Given the description of an element on the screen output the (x, y) to click on. 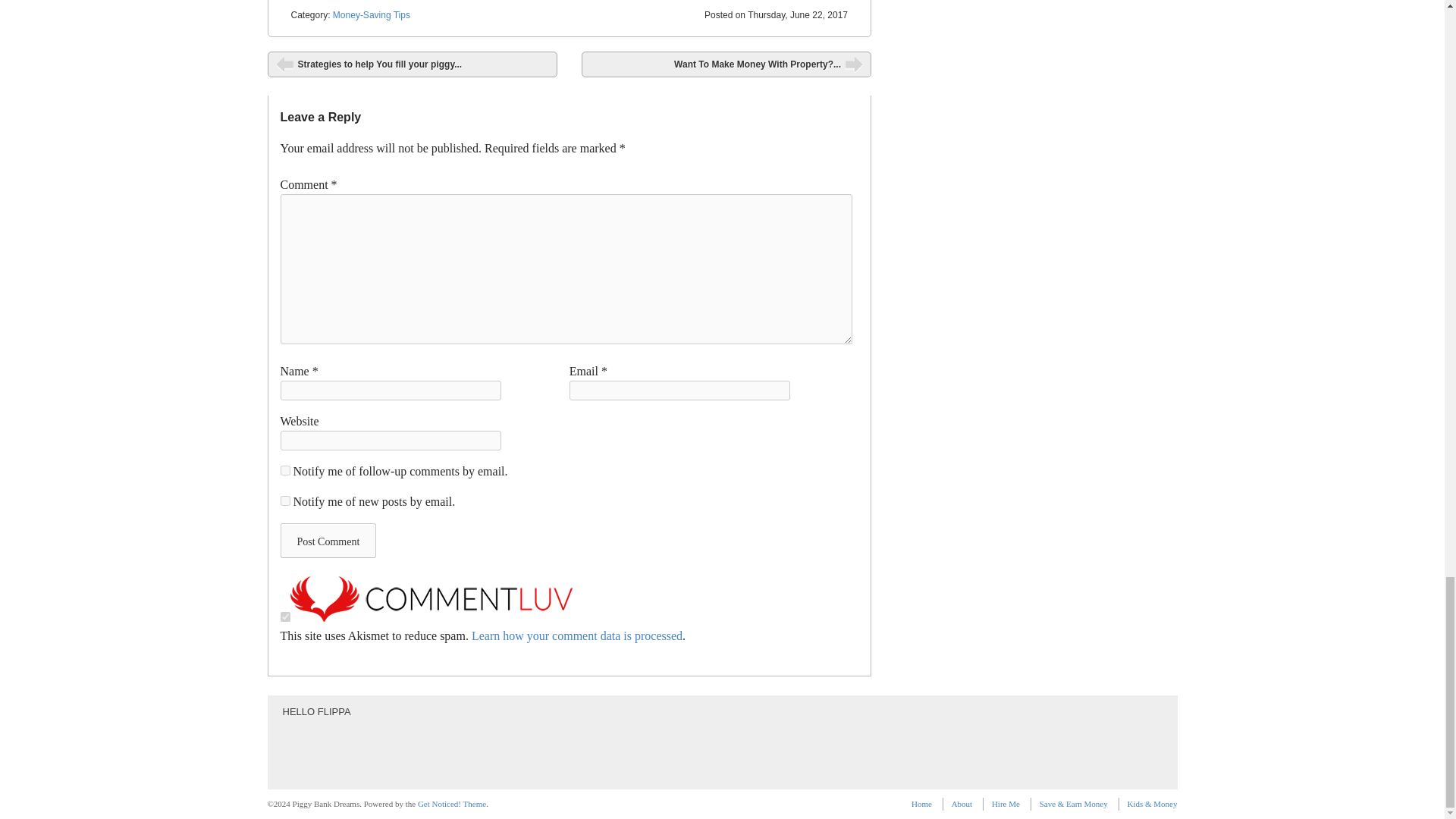
Money-Saving Tips (371, 14)
Post Comment (329, 540)
Post Comment (329, 540)
Want To Make Money With Property?... (725, 63)
Learn how your comment data is processed (576, 635)
on (285, 616)
Strategies to help You fill your piggy... (411, 63)
subscribe (285, 501)
subscribe (285, 470)
